Given the description of an element on the screen output the (x, y) to click on. 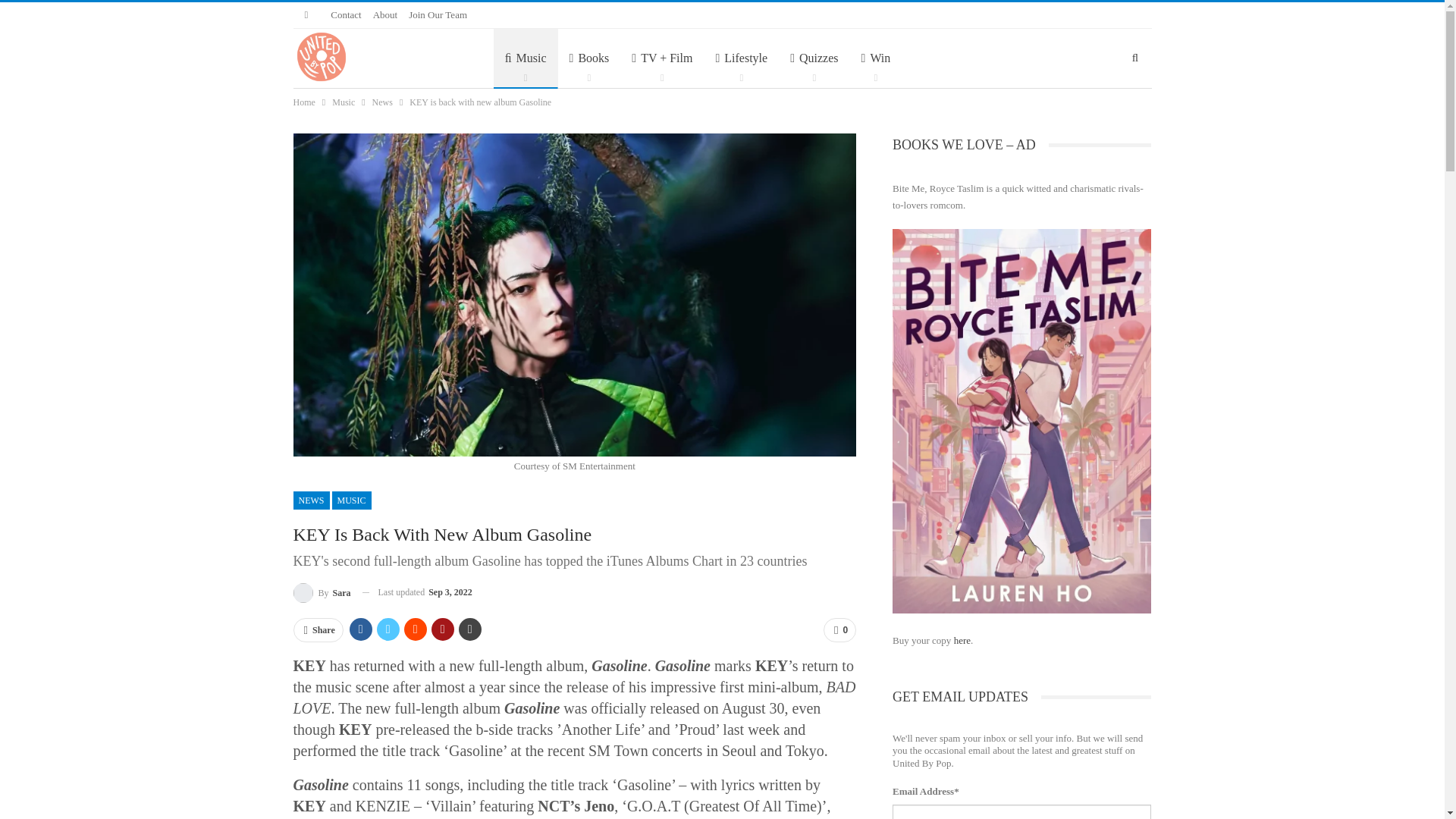
About (384, 14)
Music (525, 57)
Music (525, 57)
Books (589, 57)
Contact (345, 14)
Join Our Team (438, 14)
